Given the description of an element on the screen output the (x, y) to click on. 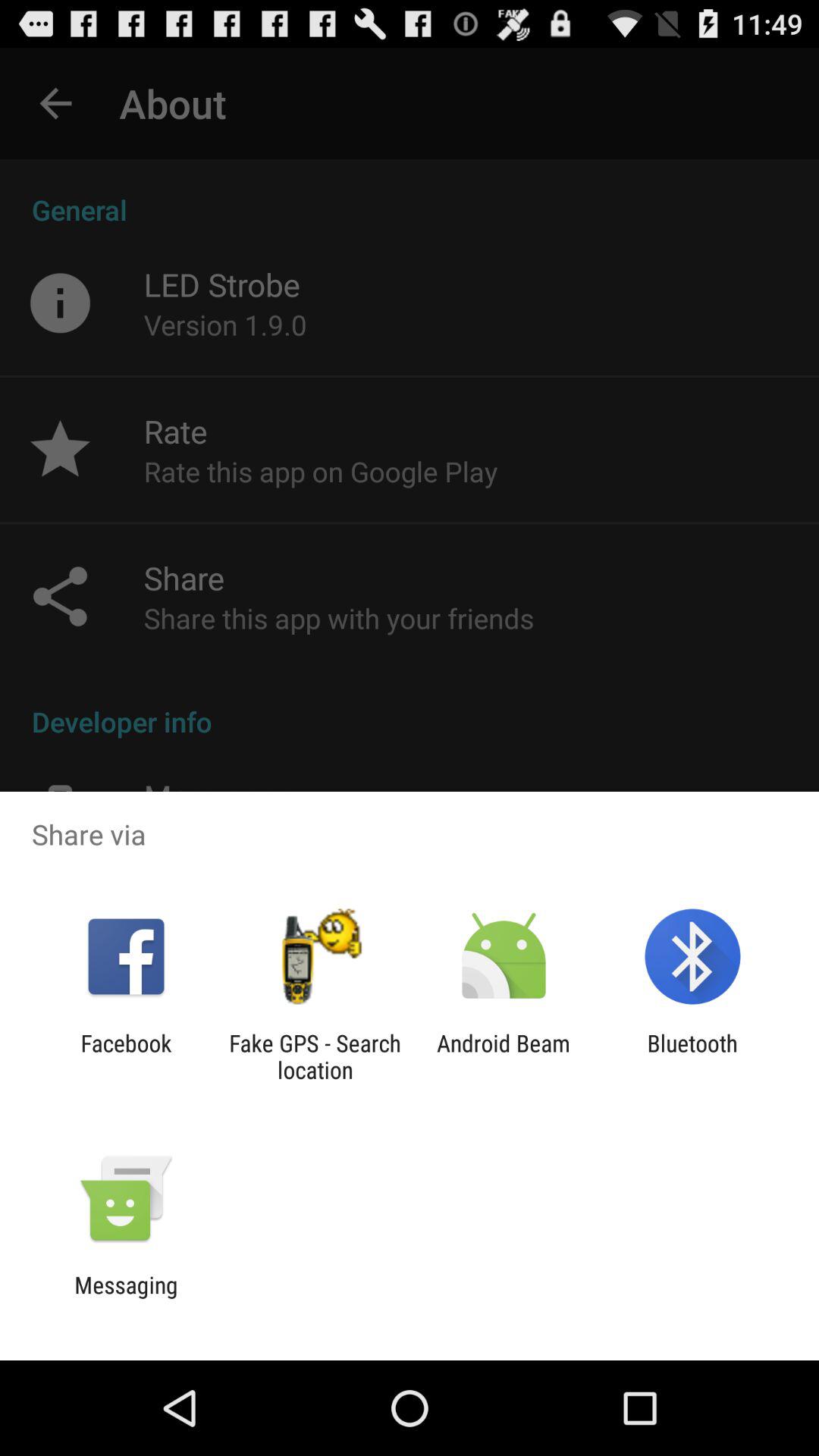
choose the fake gps search icon (314, 1056)
